Given the description of an element on the screen output the (x, y) to click on. 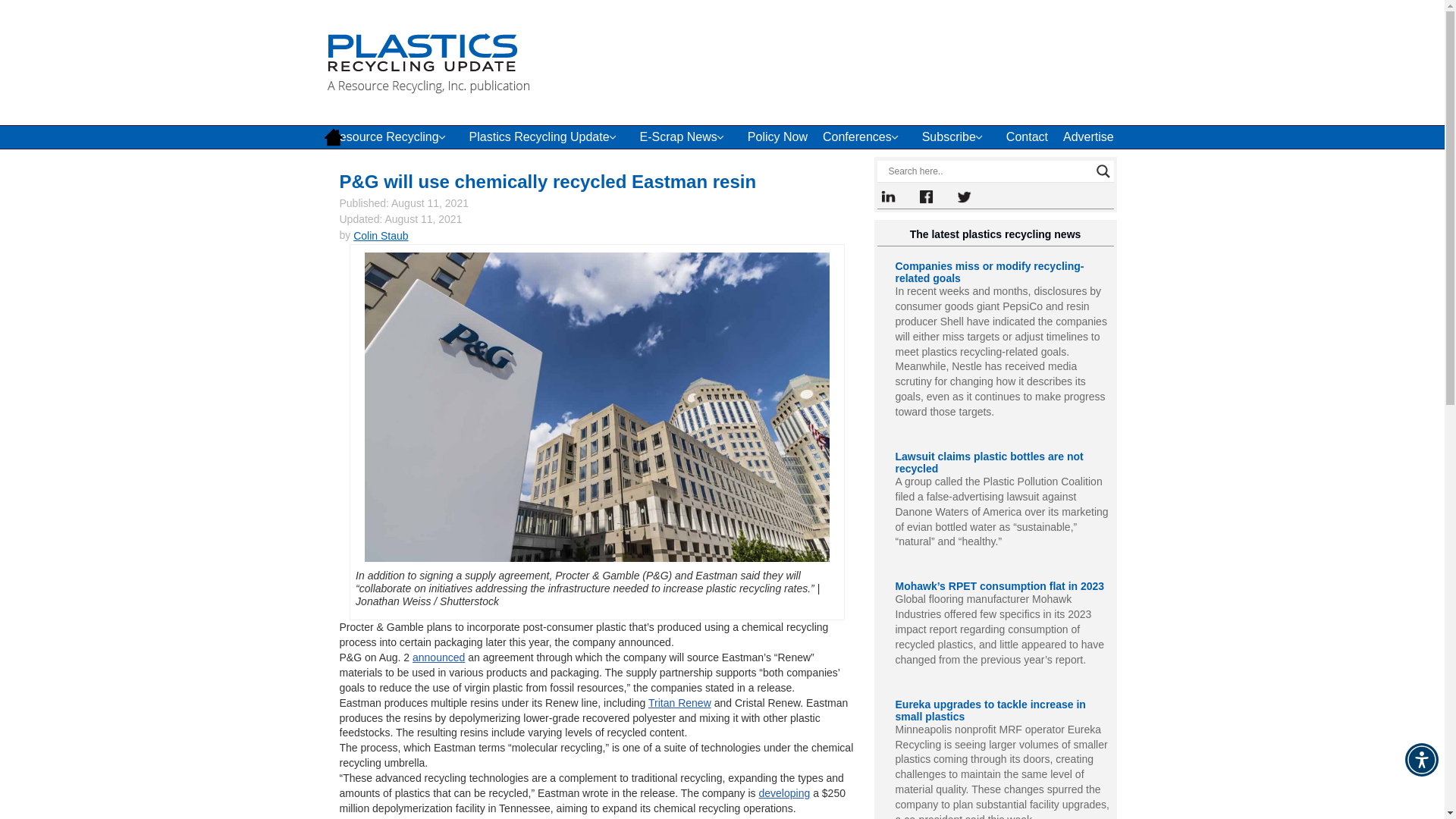
Conferences (864, 137)
Plastics Recycling Update (546, 137)
Resource Recycling (392, 137)
View all posts by Colin Staub (380, 235)
Subscribe (956, 137)
Policy Now (777, 137)
E-Scrap News (685, 137)
Advertise (1088, 137)
Accessibility Menu (1421, 759)
Contact (1026, 137)
